Given the description of an element on the screen output the (x, y) to click on. 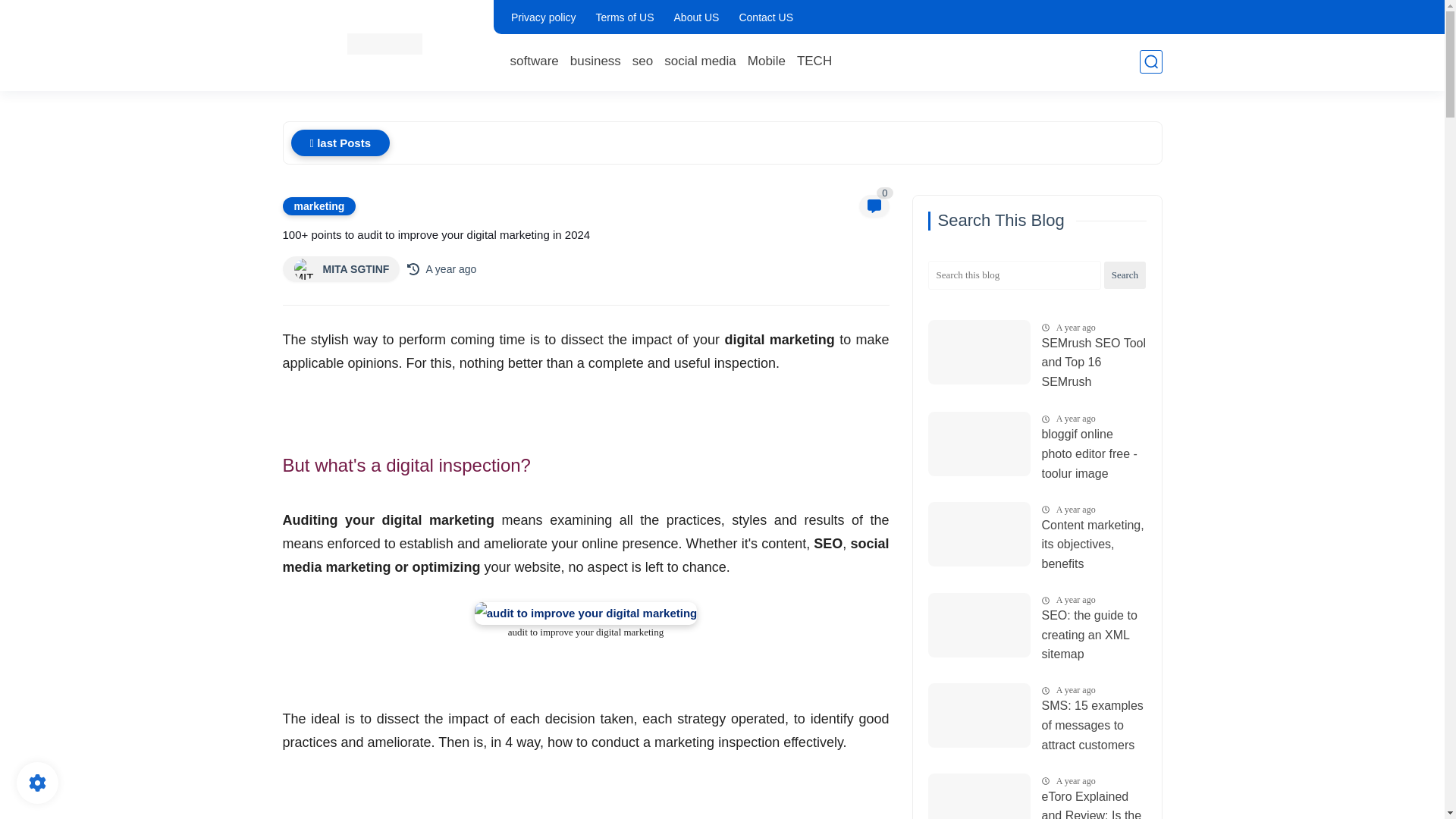
Article Update Date (450, 268)
seo (641, 61)
audit to improve your digital marketing (585, 612)
marketing (318, 206)
jou plus (384, 43)
software (533, 61)
business (595, 61)
0 (873, 205)
seo (641, 61)
About US (696, 17)
